Given the description of an element on the screen output the (x, y) to click on. 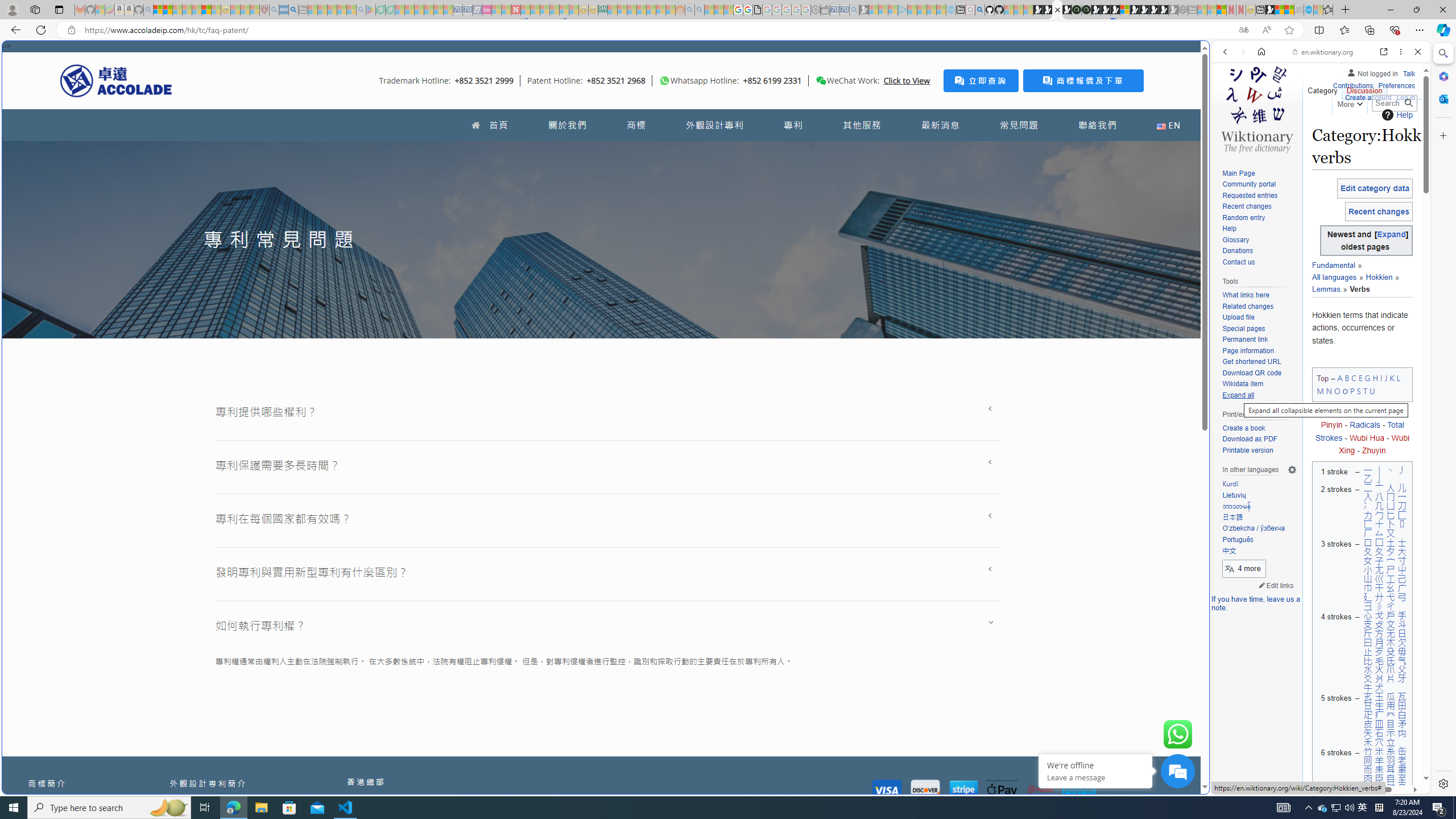
Main Page (1259, 173)
